Given the description of an element on the screen output the (x, y) to click on. 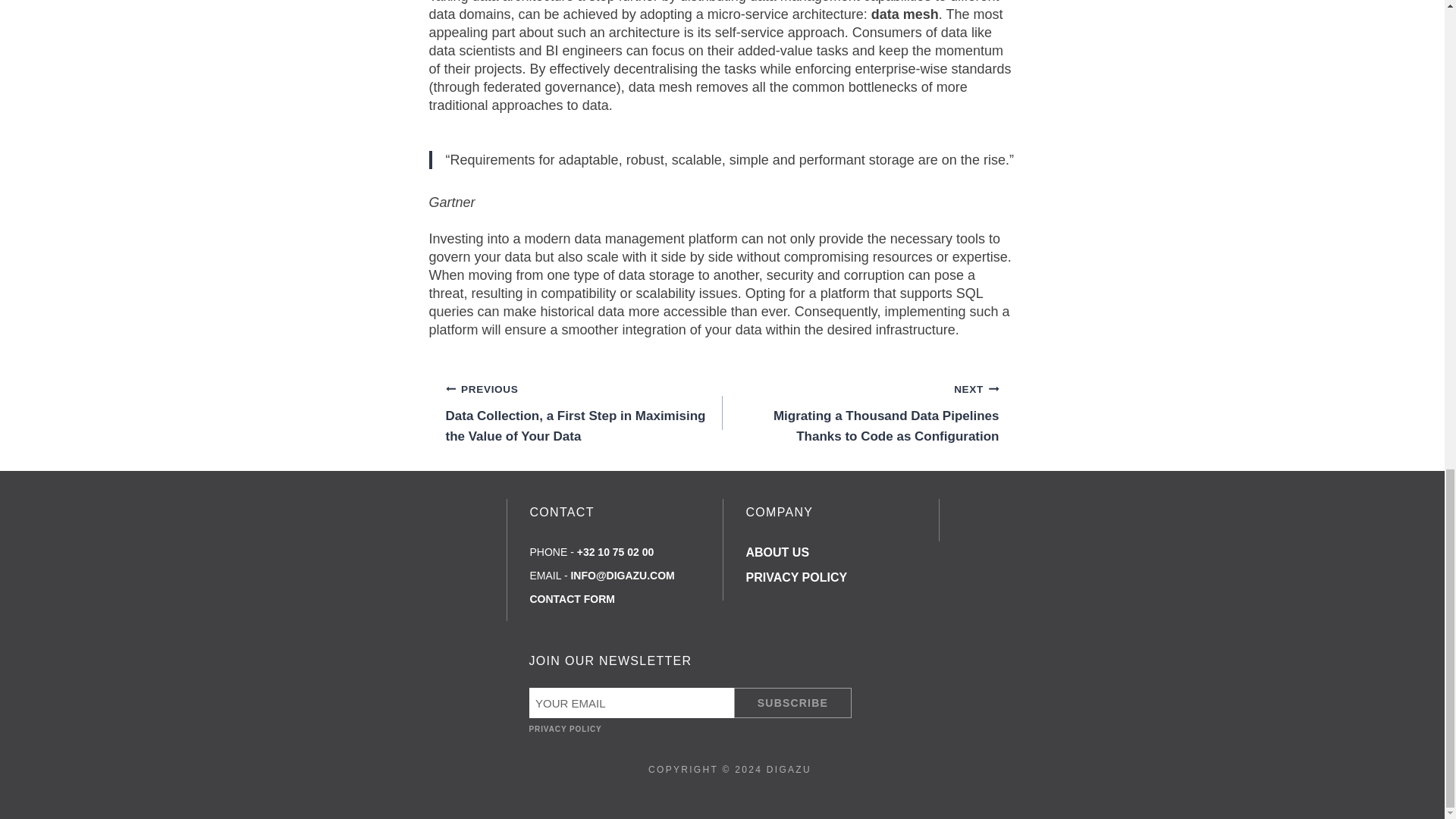
ABOUT US (777, 552)
PRIVACY POLICY (565, 728)
PRIVACY POLICY (796, 576)
SUBSCRIBE (792, 702)
CONTACT FORM (571, 598)
